Given the description of an element on the screen output the (x, y) to click on. 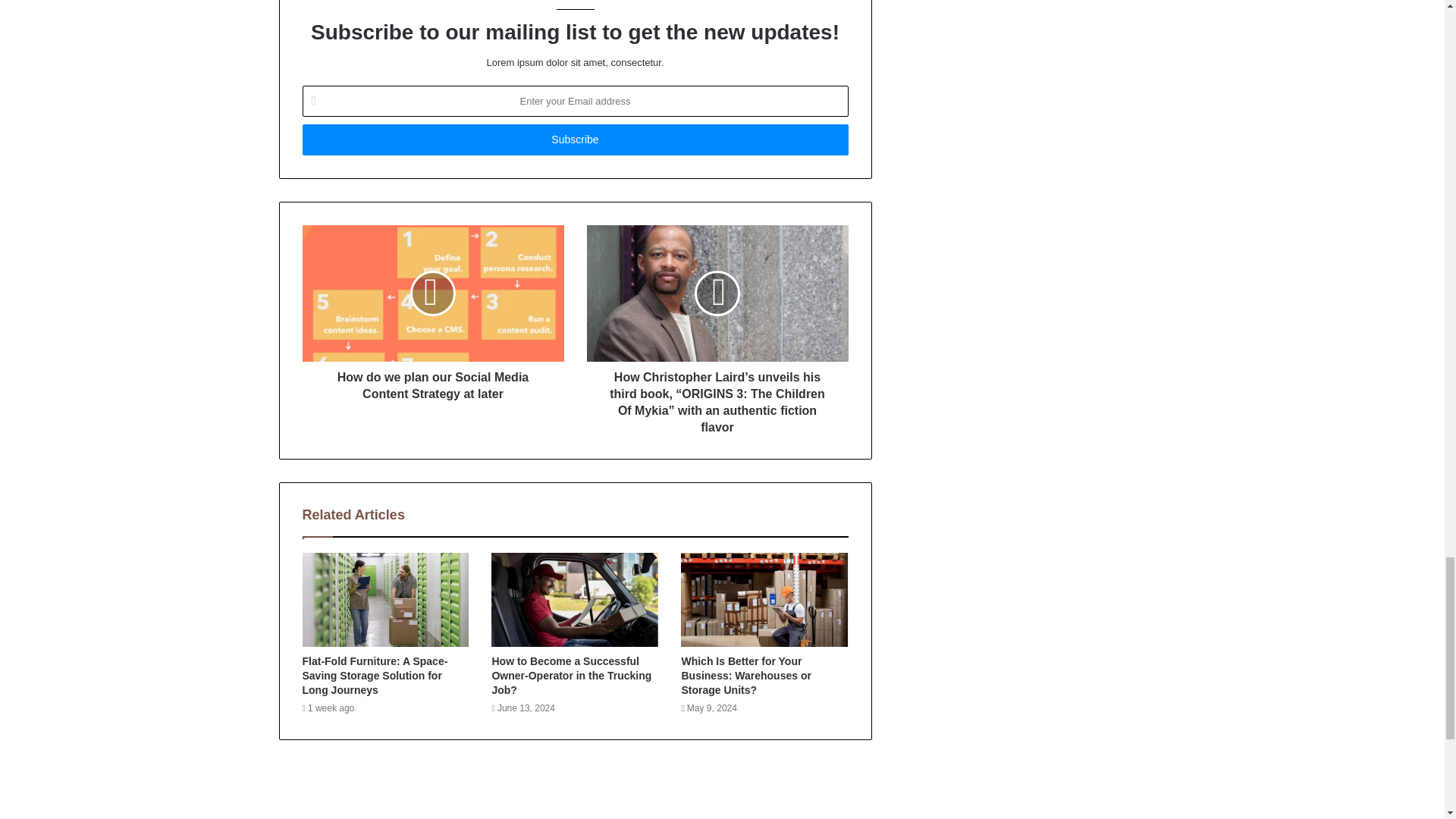
Subscribe (574, 139)
